Given the description of an element on the screen output the (x, y) to click on. 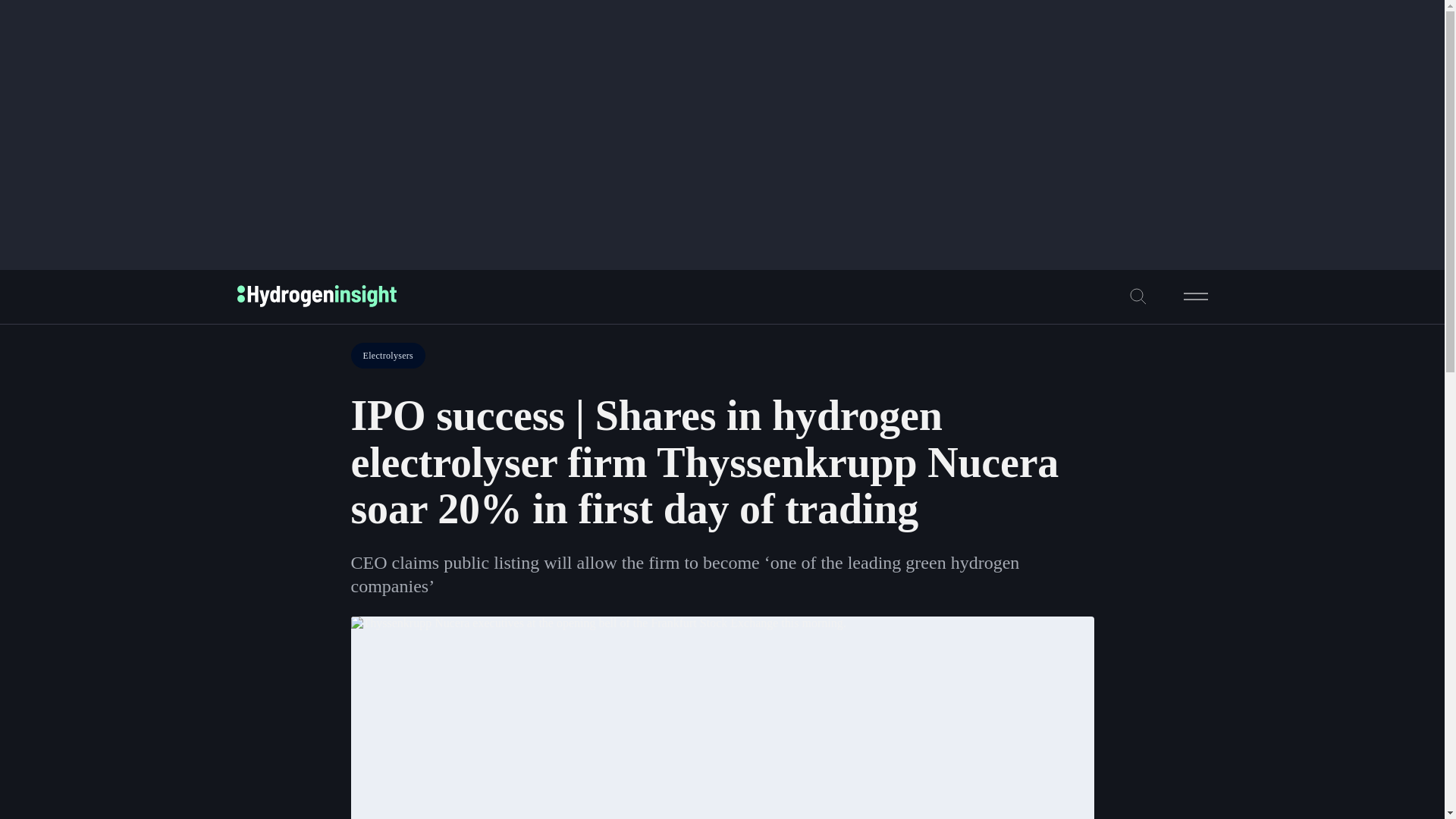
Electrolysers (387, 355)
Electrolysers (387, 355)
